Given the description of an element on the screen output the (x, y) to click on. 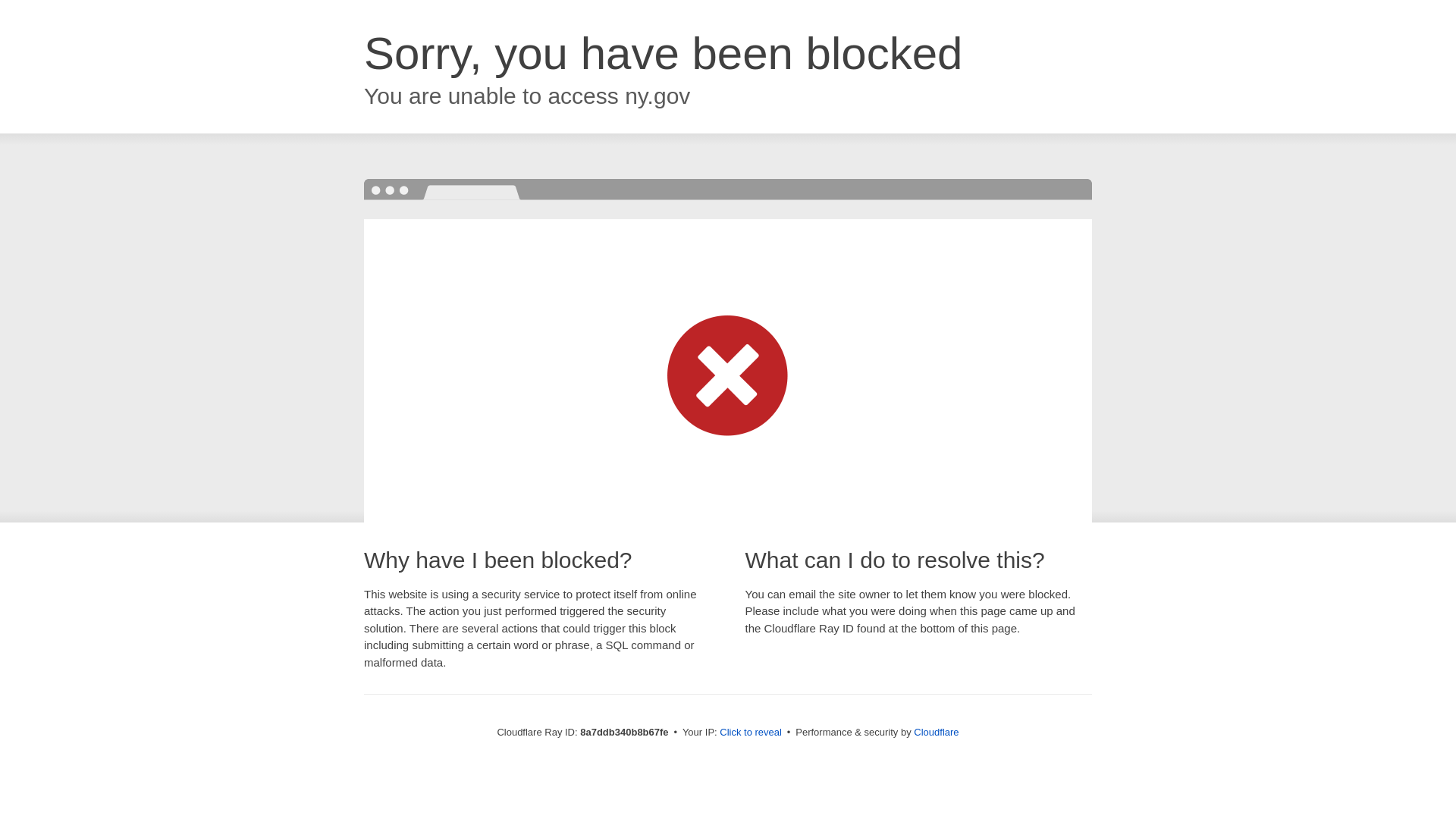
Click to reveal (750, 732)
Cloudflare (936, 731)
